Given the description of an element on the screen output the (x, y) to click on. 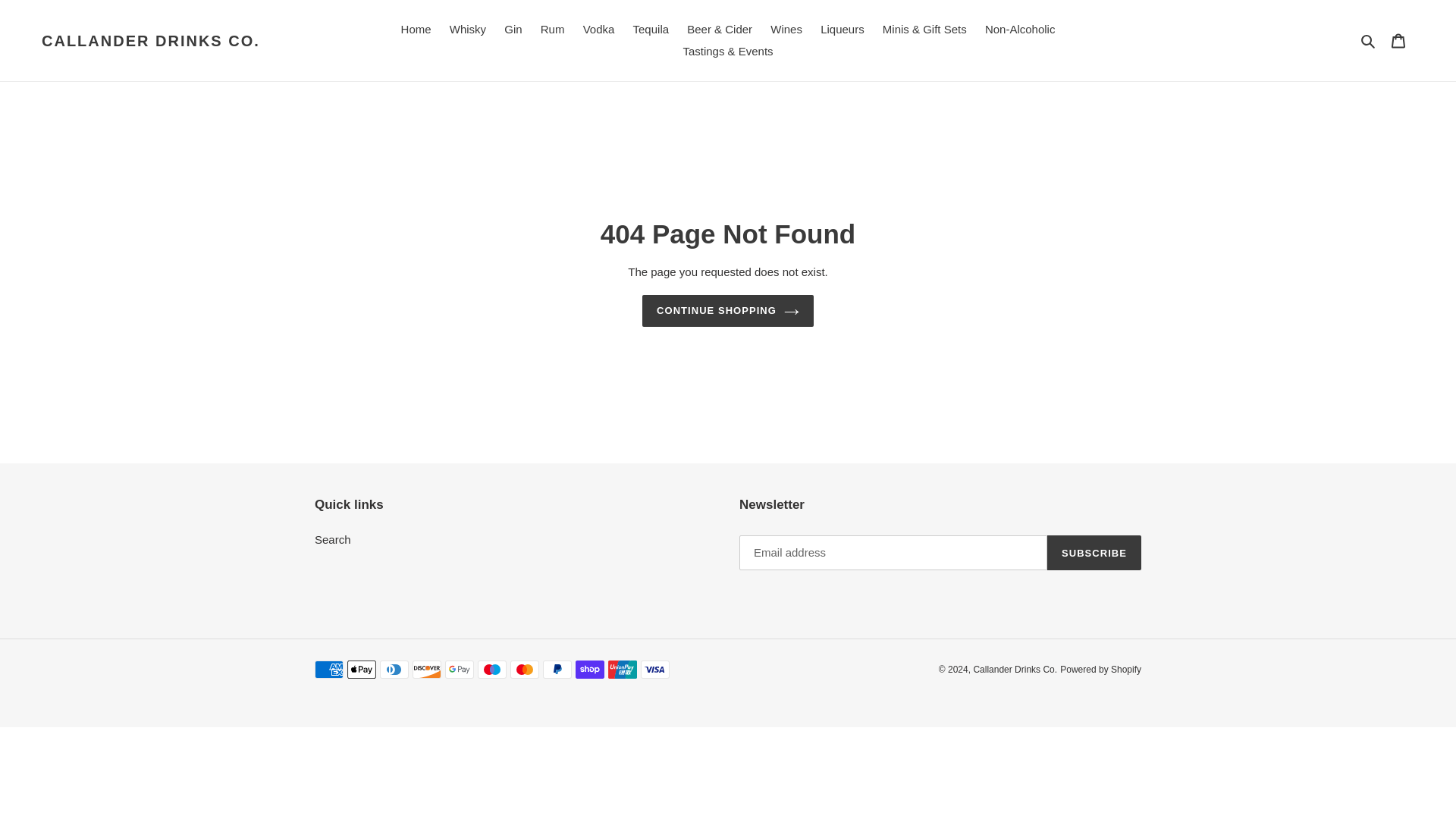
Rum (552, 29)
CONTINUE SHOPPING (727, 310)
Vodka (599, 29)
Gin (512, 29)
Wines (785, 29)
Search (1368, 40)
Tequila (651, 29)
Non-Alcoholic (1019, 29)
Liqueurs (842, 29)
SUBSCRIBE (1093, 552)
